Given the description of an element on the screen output the (x, y) to click on. 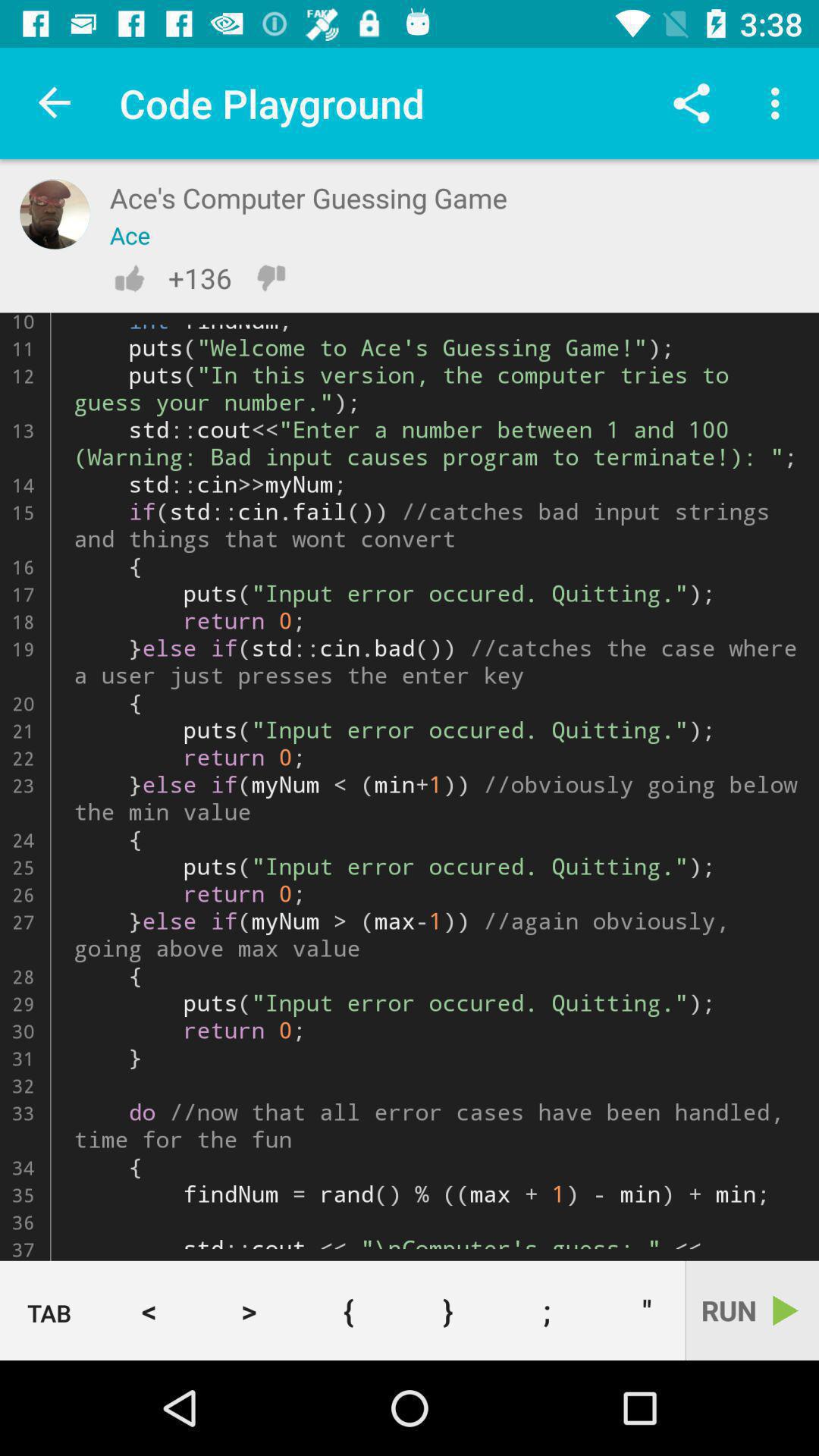
downvote the code (270, 277)
